Given the description of an element on the screen output the (x, y) to click on. 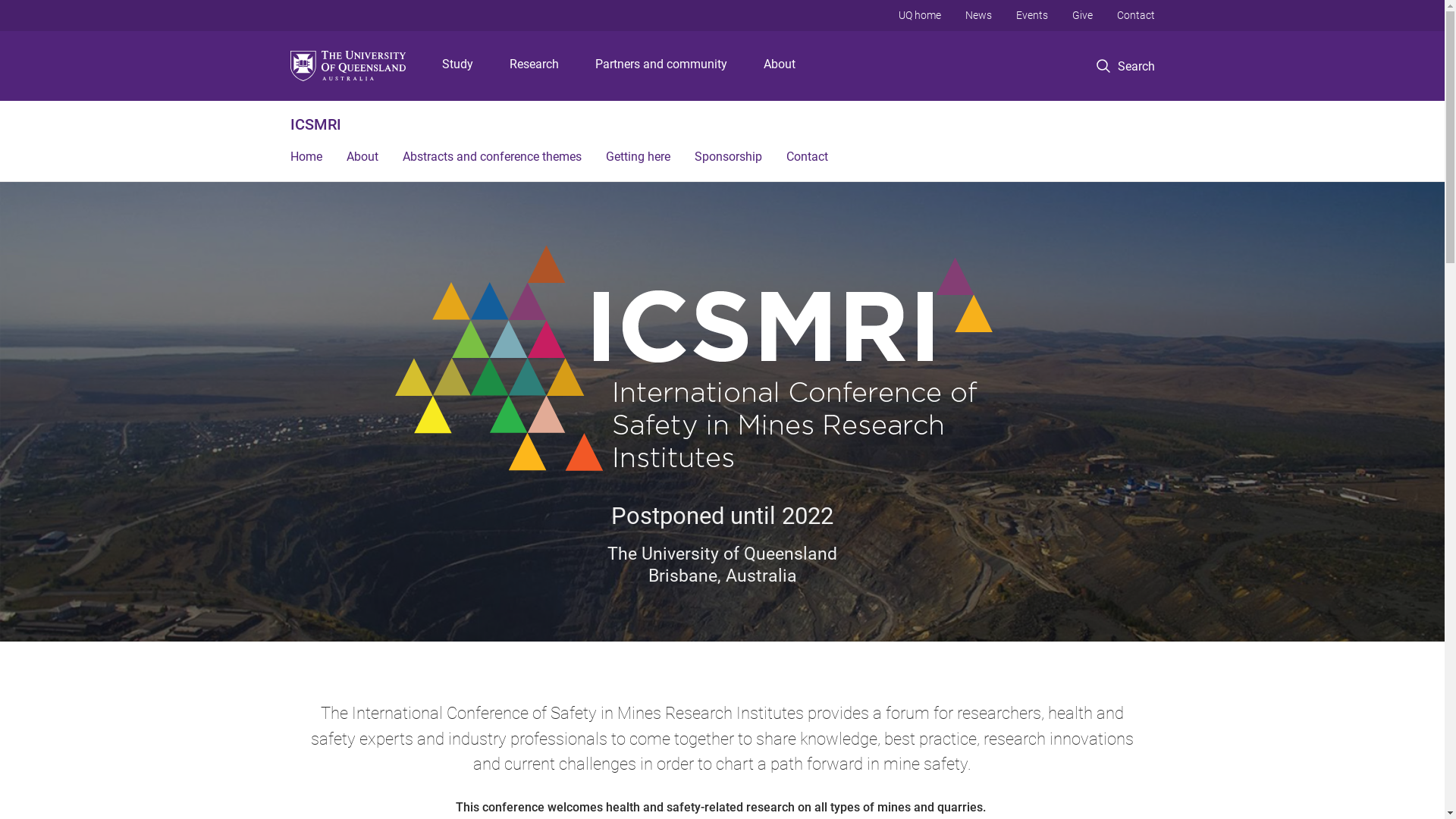
Give Element type: text (1082, 15)
Sponsorship Element type: text (728, 158)
News Element type: text (977, 15)
Contact Element type: text (1135, 15)
Study Element type: text (457, 65)
Contact Element type: text (806, 158)
Research Element type: text (533, 65)
Search Element type: text (1125, 66)
Abstracts and conference themes Element type: text (491, 158)
Getting here Element type: text (637, 158)
Search Element type: text (1140, 117)
ICSMRI Element type: text (314, 124)
Home Element type: text (305, 158)
Events Element type: text (1032, 15)
UQ home Element type: text (918, 15)
Partners and community Element type: text (661, 65)
About Element type: text (779, 65)
About Element type: text (361, 158)
Skip to menu Element type: text (721, 0)
